Given the description of an element on the screen output the (x, y) to click on. 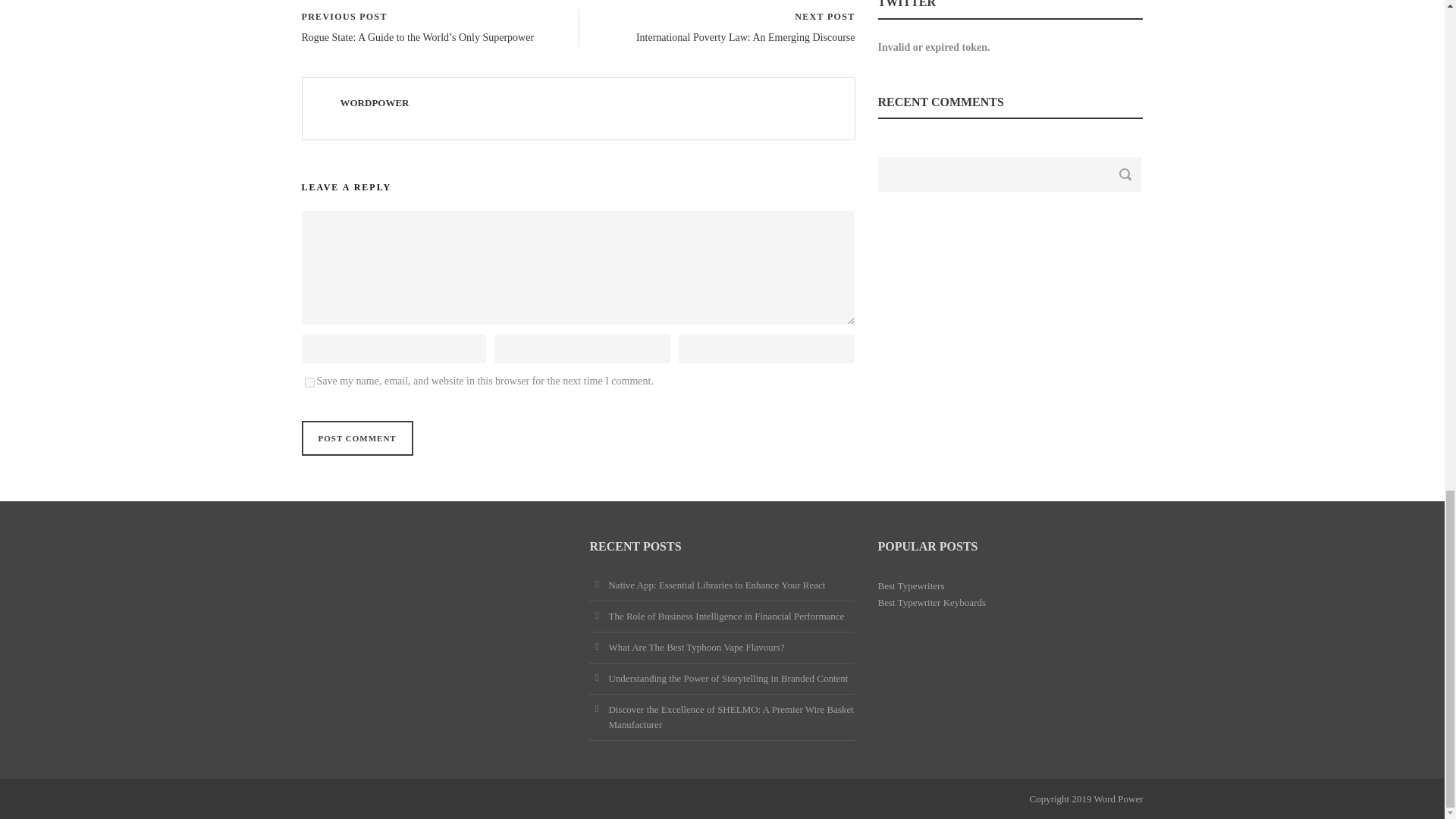
yes (309, 382)
Post Comment (357, 437)
Posts by wordpower (374, 102)
